Given the description of an element on the screen output the (x, y) to click on. 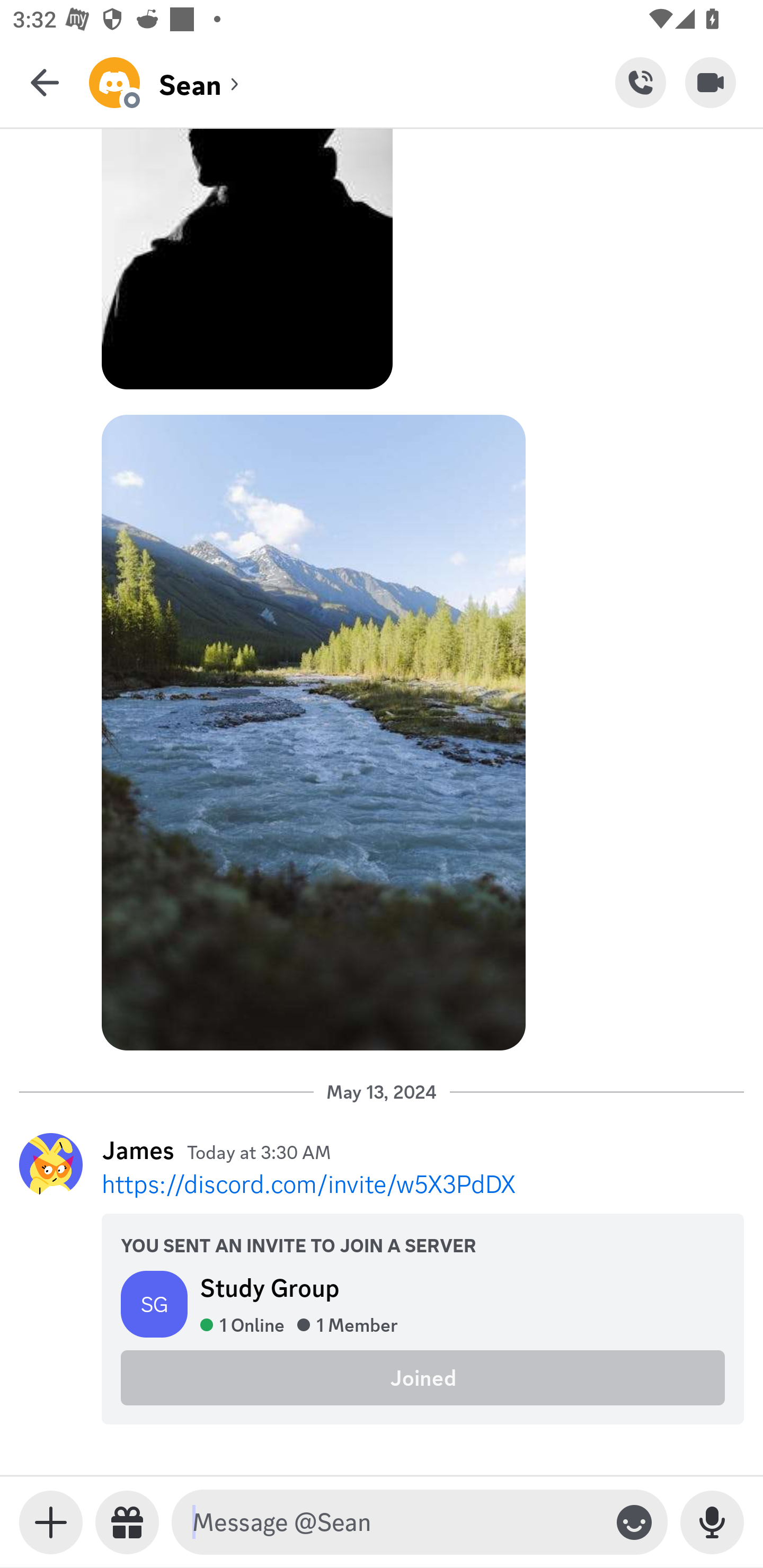
Sean (channel) Sean Sean (channel) (351, 82)
Back (44, 82)
Start Voice Call (640, 82)
Start Video Call (710, 82)
James (137, 1149)
Joined (422, 1377)
Toggle media keyboard (50, 1522)
Send a gift (126, 1522)
Record Voice Message (711, 1522)
Message @Sean (395, 1522)
Toggle emoji keyboard (634, 1522)
